Given the description of an element on the screen output the (x, y) to click on. 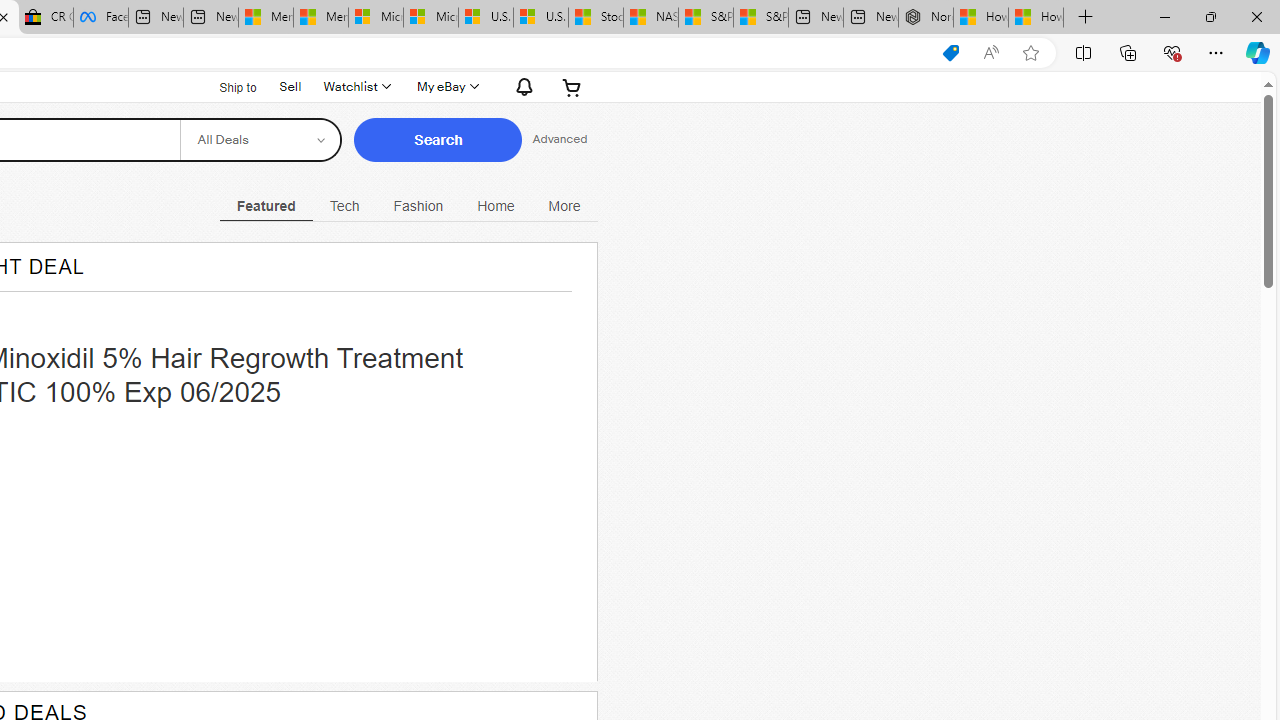
Class: navigation-desktop-with-flyout selected open-left (265, 203)
Expand Cart (572, 86)
Read aloud this page (Ctrl+Shift+U) (991, 53)
Restore (1210, 16)
Notifications (519, 86)
More (564, 205)
Search (438, 140)
Copilot (Ctrl+Shift+.) (1258, 52)
Class: ebayui-refit-nav-ul (407, 203)
AutomationID: gh-eb-Alerts (521, 86)
Browser essentials (1171, 52)
Facebook (100, 17)
